Given the description of an element on the screen output the (x, y) to click on. 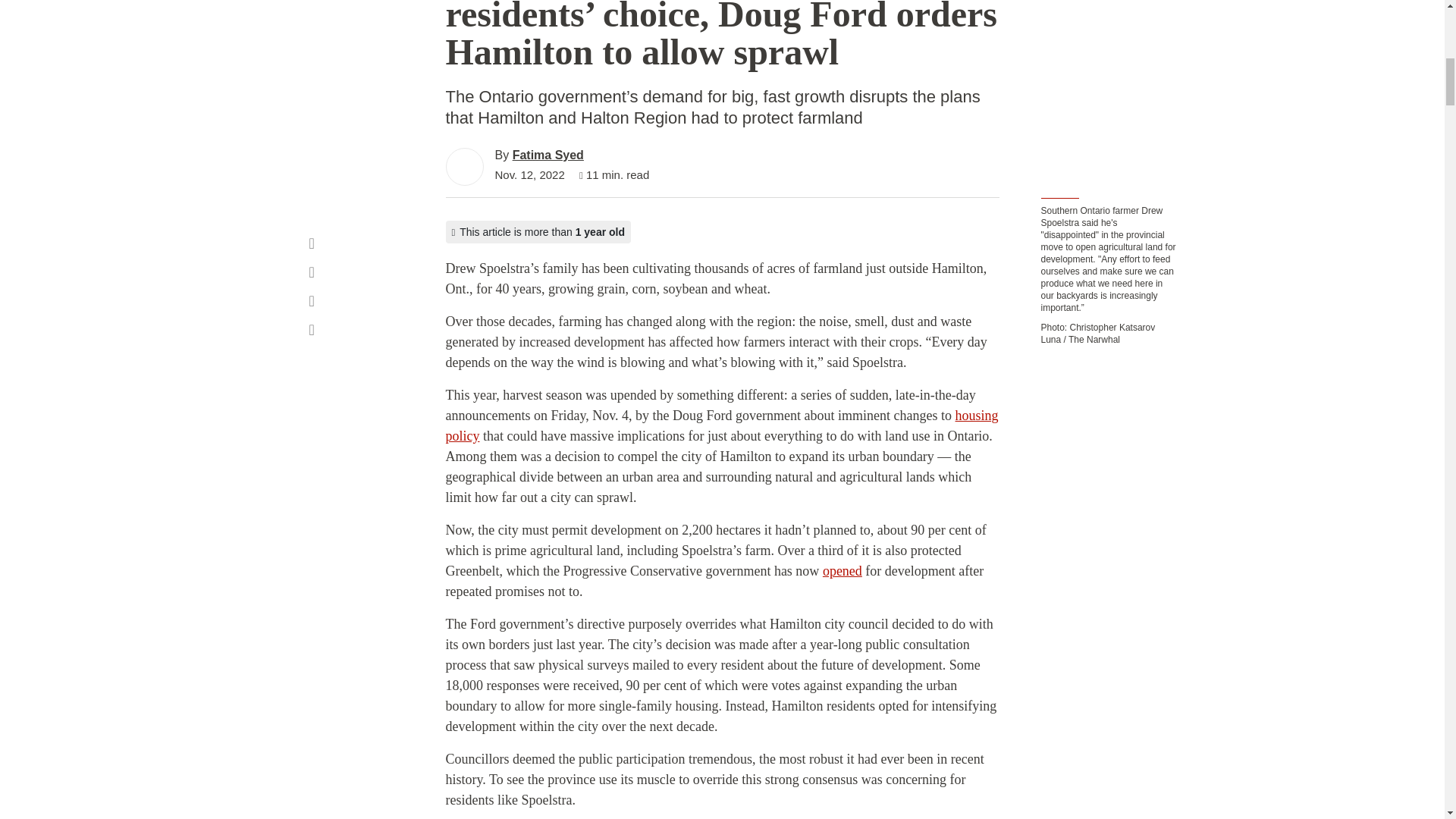
Fatima Syed (547, 154)
